Given the description of an element on the screen output the (x, y) to click on. 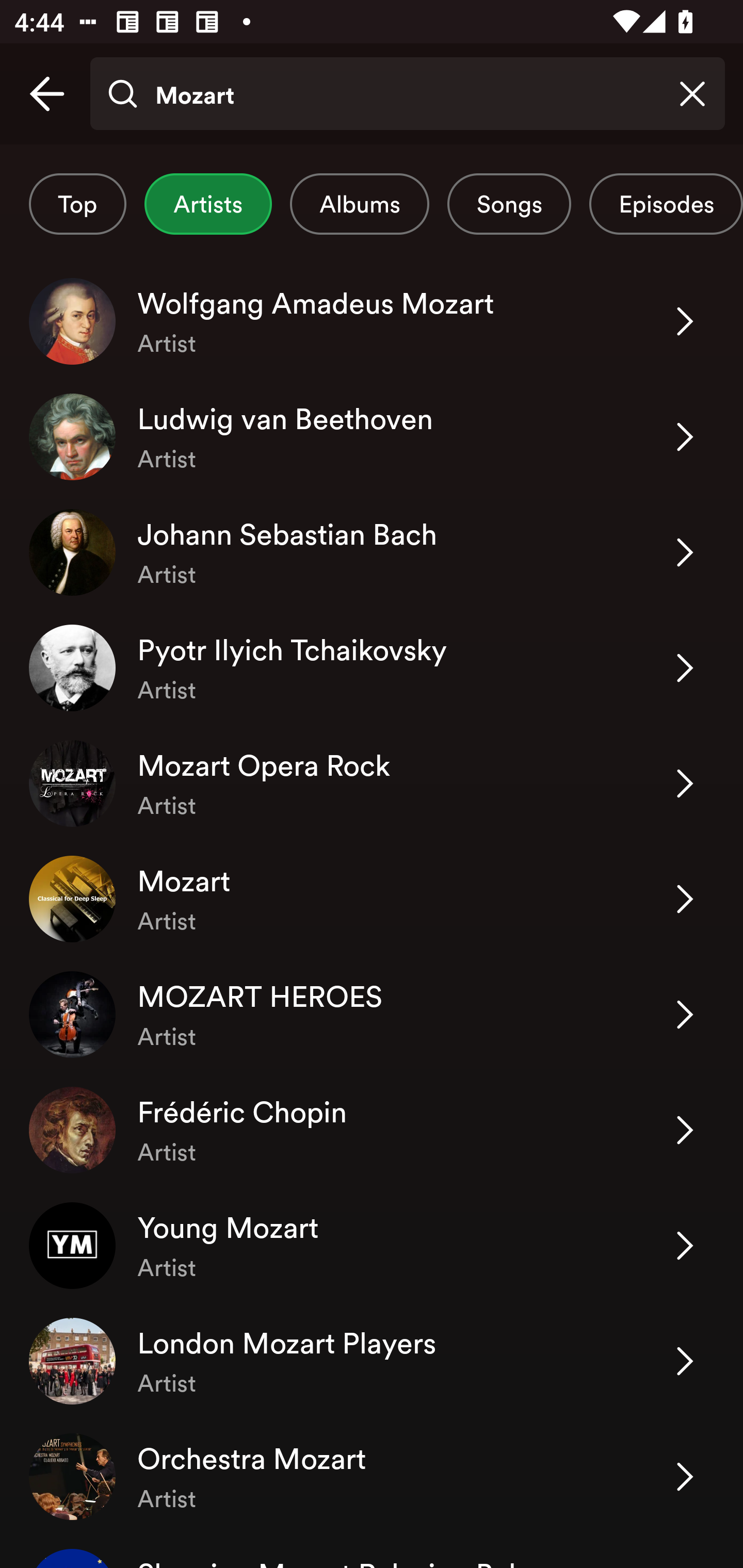
Back (46, 93)
Mozart Search (407, 94)
Clear Search (692, 94)
Top (77, 203)
Artists (207, 203)
Albums (359, 203)
Songs (509, 203)
Episodes (666, 203)
Wolfgang Amadeus Mozart Artist (371, 321)
Ludwig van Beethoven Artist (371, 436)
Johann Sebastian Bach Artist (371, 551)
Pyotr Ilyich Tchaikovsky Artist (371, 667)
Mozart Opera Rock Artist (371, 783)
Mozart Artist (371, 899)
MOZART HEROES Artist (371, 1014)
Frédéric Chopin Artist (371, 1130)
Young Mozart Artist (371, 1245)
London Mozart Players Artist (371, 1361)
Orchestra Mozart Artist (371, 1477)
